Given the description of an element on the screen output the (x, y) to click on. 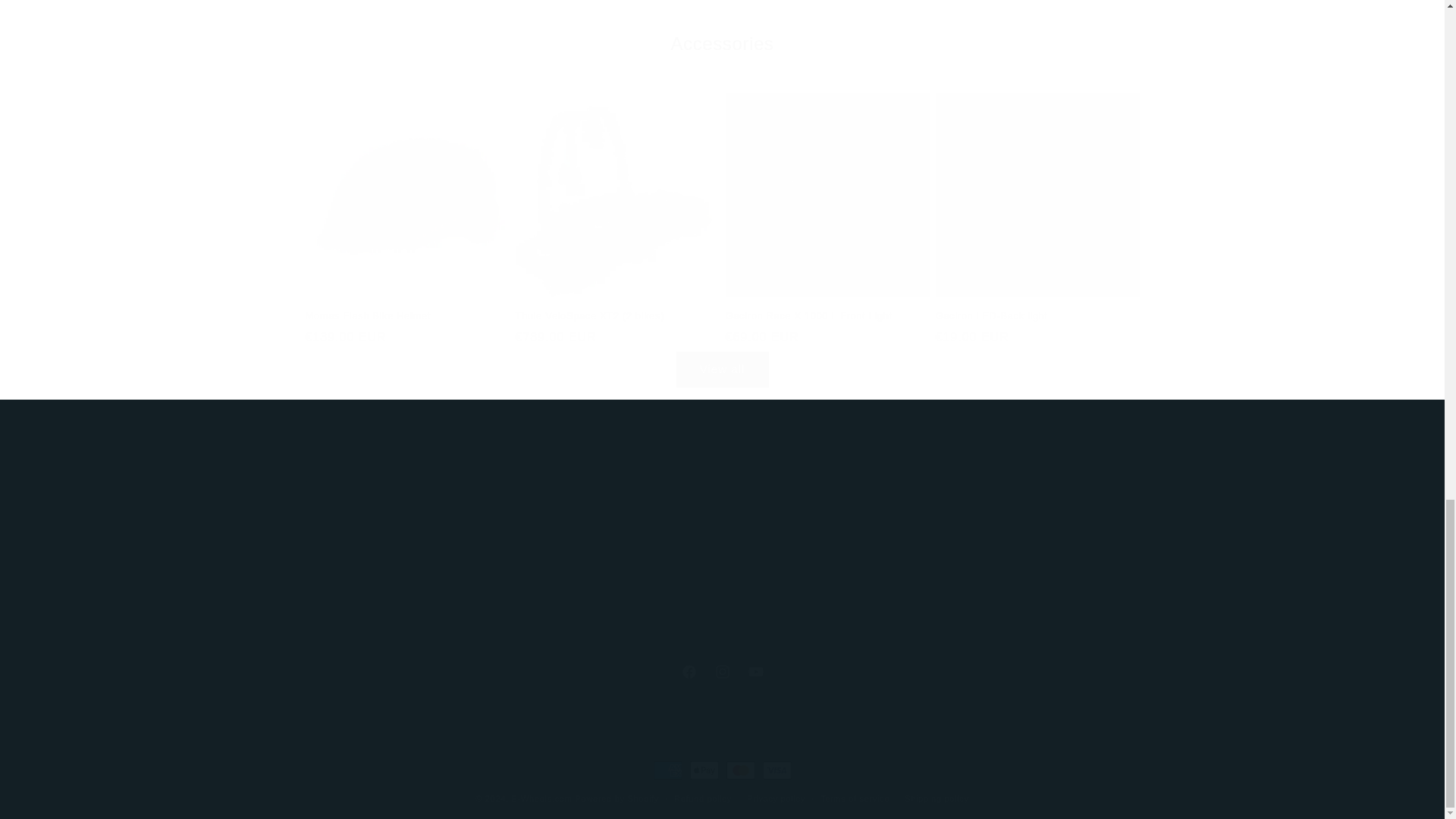
Accessories (721, 671)
